Given the description of an element on the screen output the (x, y) to click on. 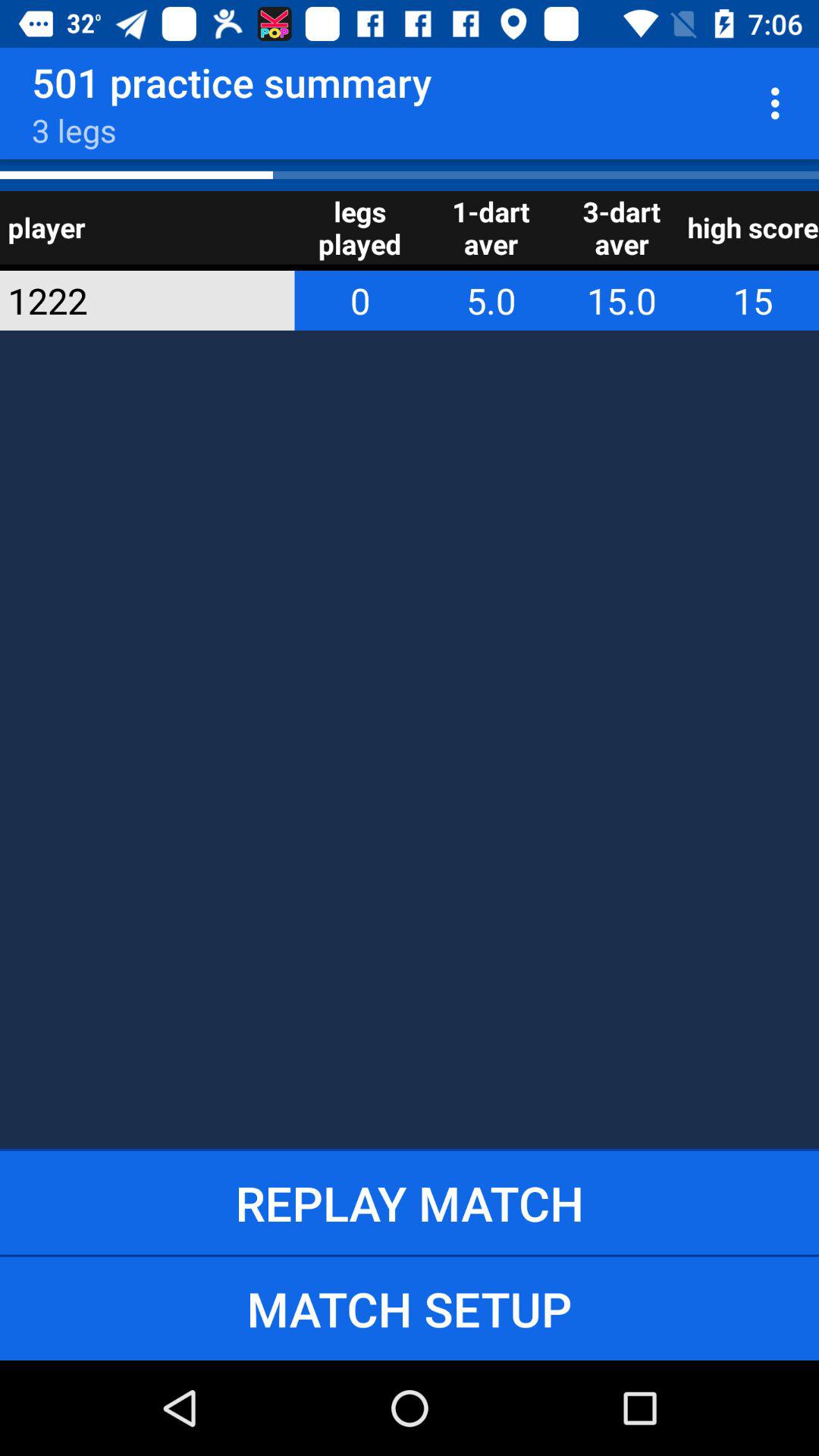
scroll to replay match (409, 1202)
